Given the description of an element on the screen output the (x, y) to click on. 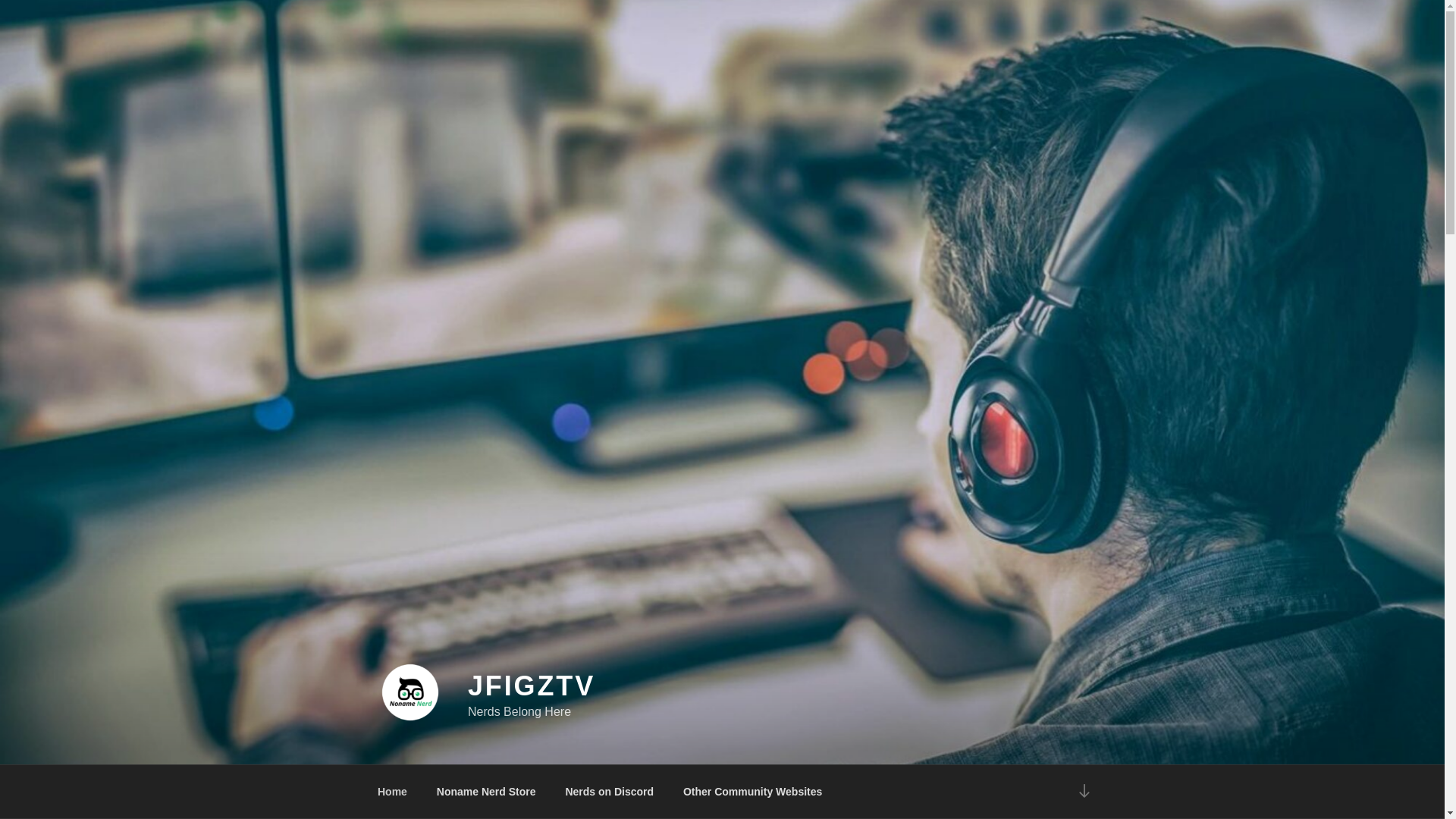
Scroll down to content (1082, 791)
Other Community Websites (751, 791)
Scroll down to content (1082, 791)
JFIGZTV (531, 685)
Nerds on Discord (608, 791)
Home (392, 791)
Noname Nerd Store (485, 791)
